Given the description of an element on the screen output the (x, y) to click on. 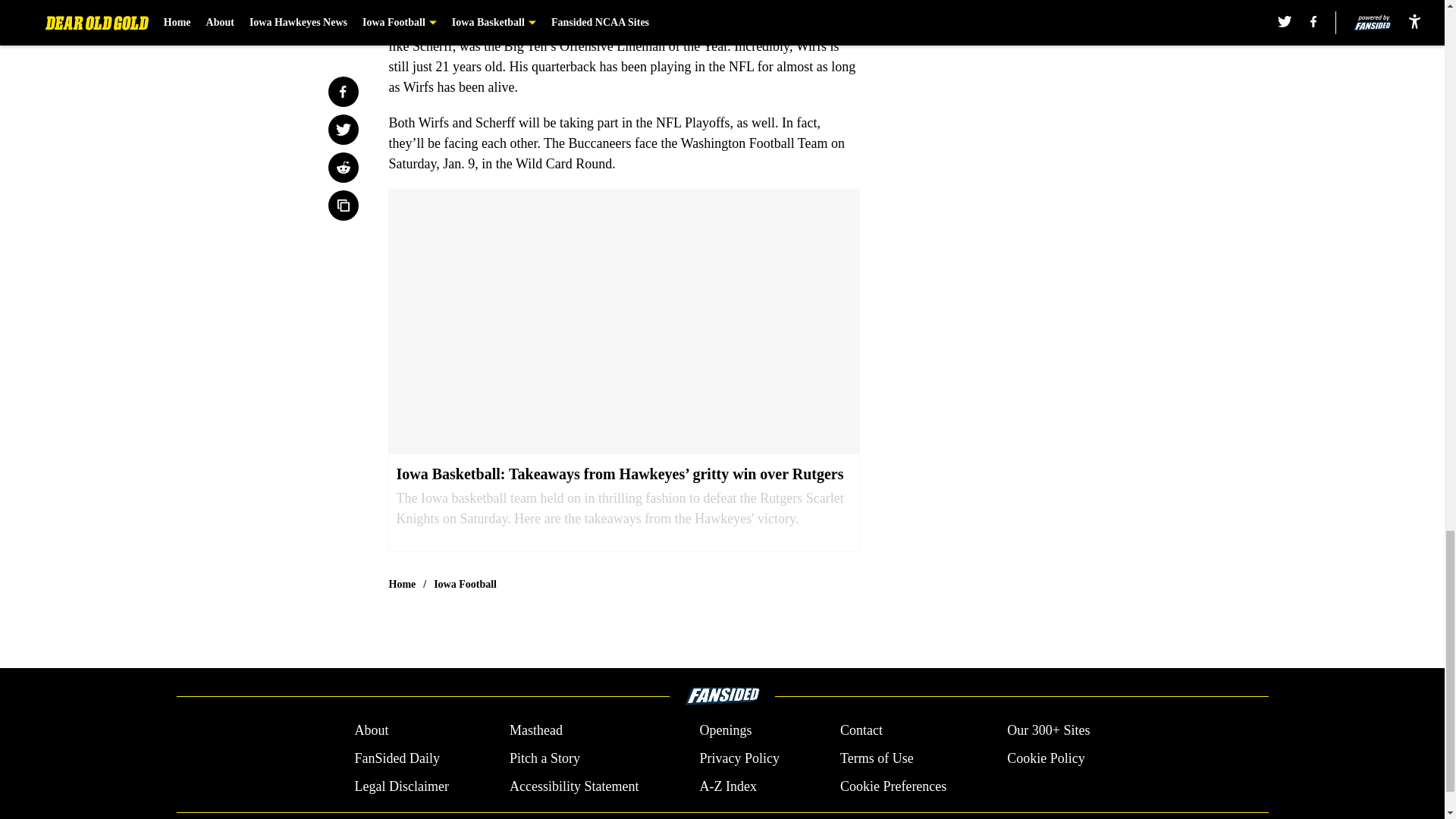
Cookie Policy (1045, 758)
FanSided Daily (396, 758)
Pitch a Story (544, 758)
Openings (724, 730)
Privacy Policy (738, 758)
Home (401, 584)
Iowa Football (464, 584)
Legal Disclaimer (400, 786)
About (370, 730)
Contact (861, 730)
Masthead (535, 730)
Terms of Use (877, 758)
